Given the description of an element on the screen output the (x, y) to click on. 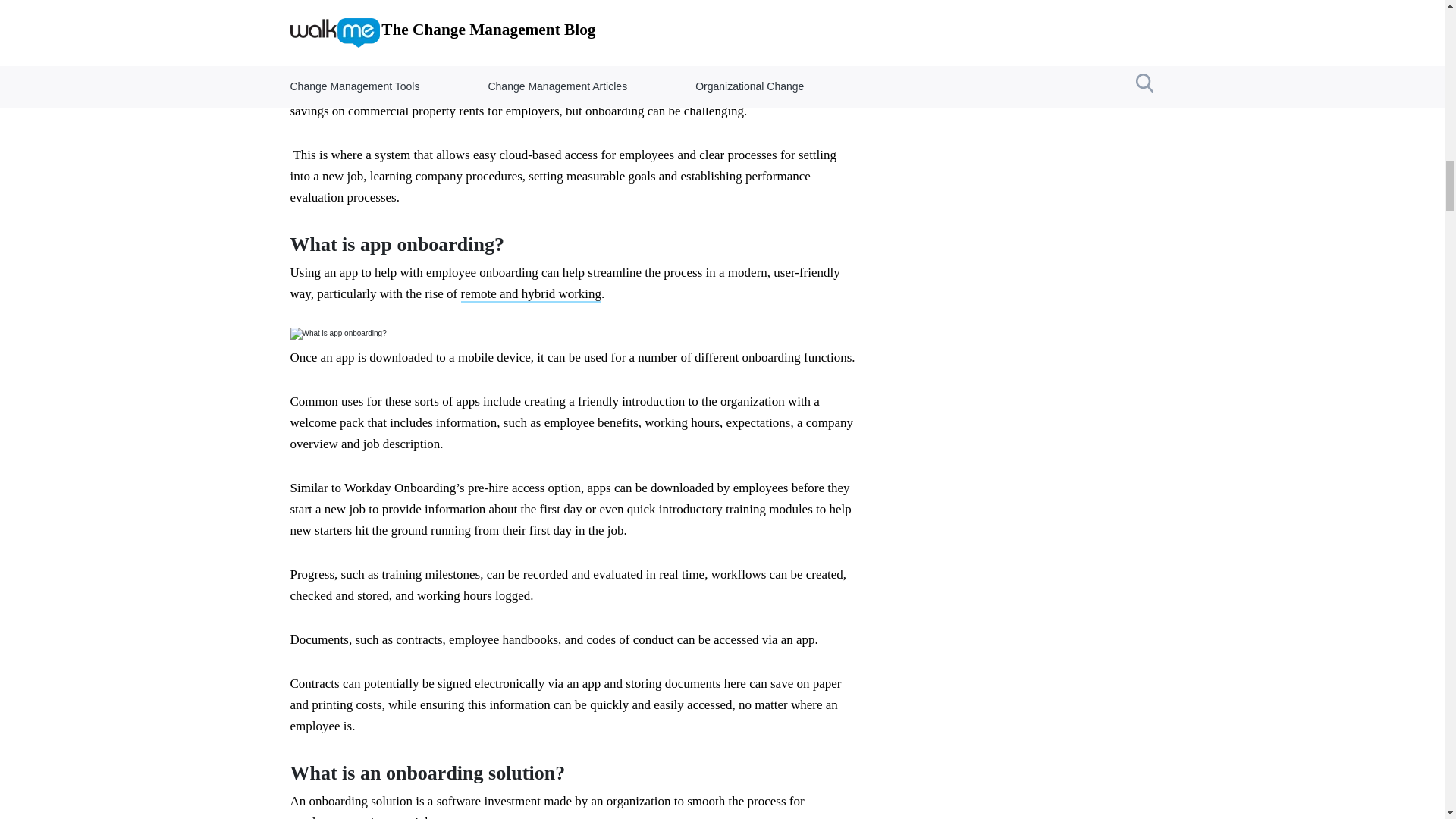
remote and hybrid working (531, 294)
remote work (402, 46)
hybrid working (373, 25)
